Given the description of an element on the screen output the (x, y) to click on. 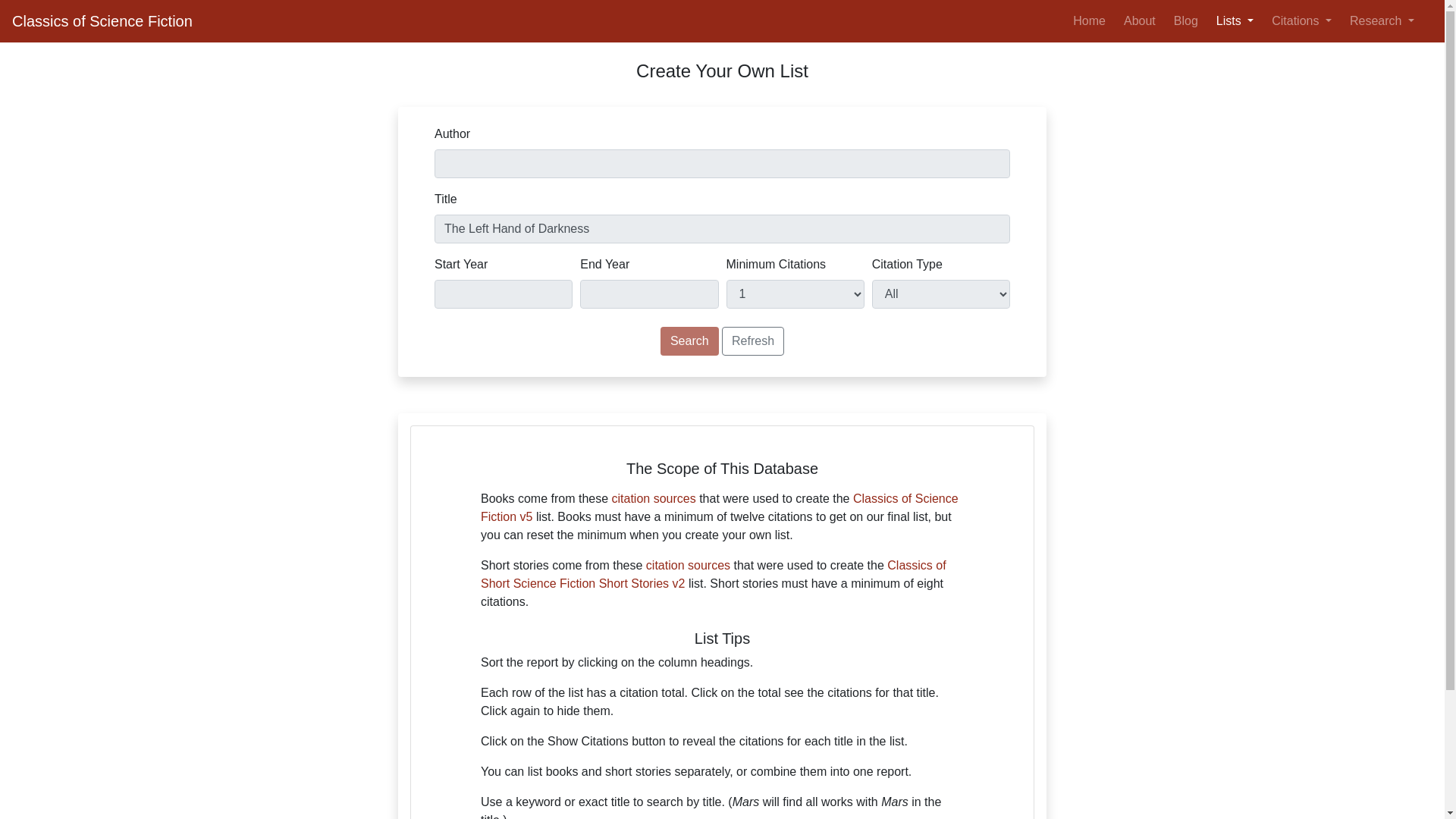
Classics of Short Science Fiction Short Stories v2 (713, 573)
Lists (1234, 20)
citation sources (688, 564)
Research (1382, 20)
The Left Hand of Darkness (721, 228)
Search (690, 340)
Citations (1301, 20)
Search (690, 340)
Refresh (753, 340)
citation sources (653, 498)
About (1139, 20)
Classics of Science Fiction v5 (719, 507)
Blog (1185, 20)
Classics of Science Fiction (101, 20)
